Given the description of an element on the screen output the (x, y) to click on. 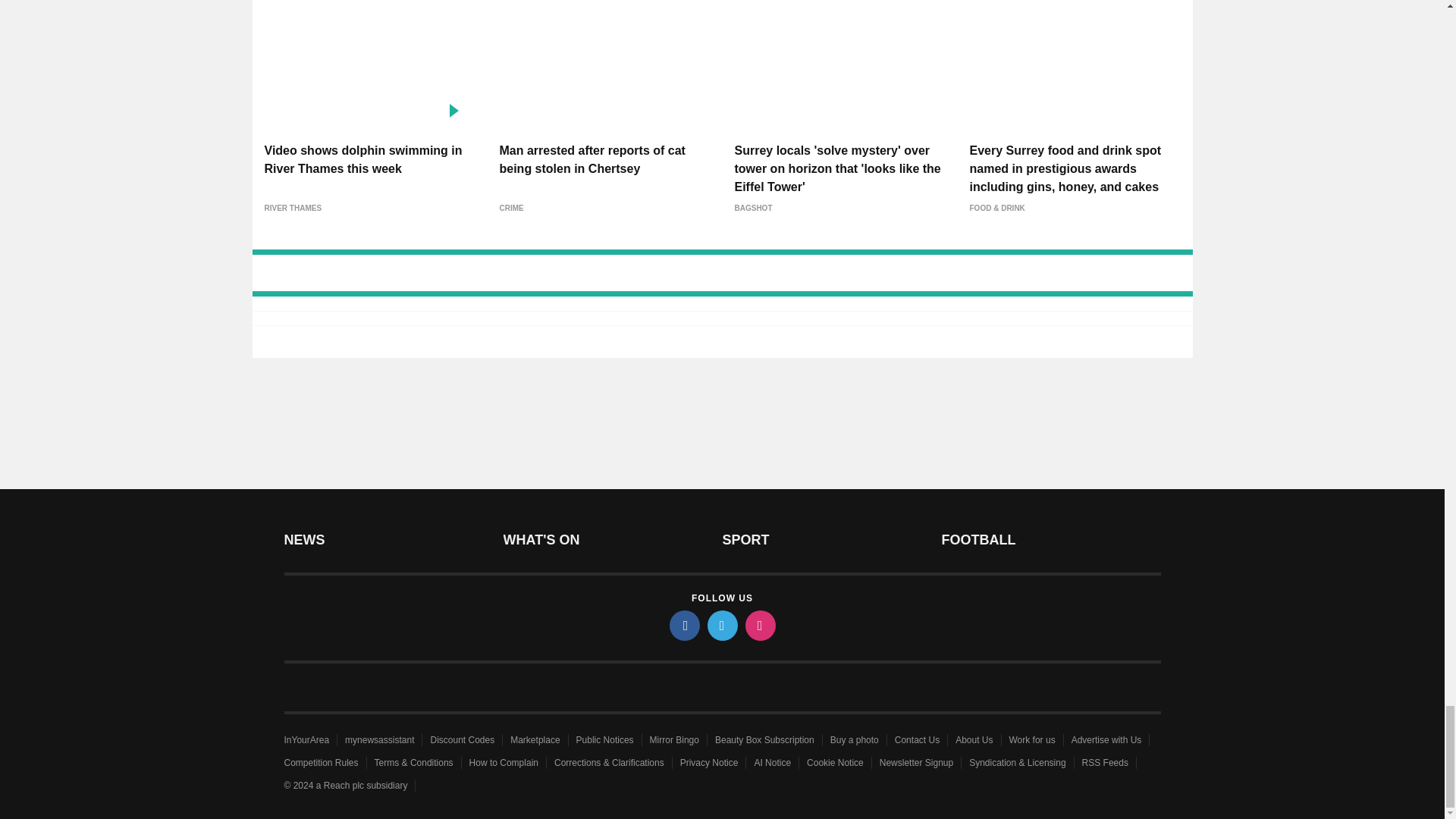
twitter (721, 625)
instagram (759, 625)
facebook (683, 625)
